Given the description of an element on the screen output the (x, y) to click on. 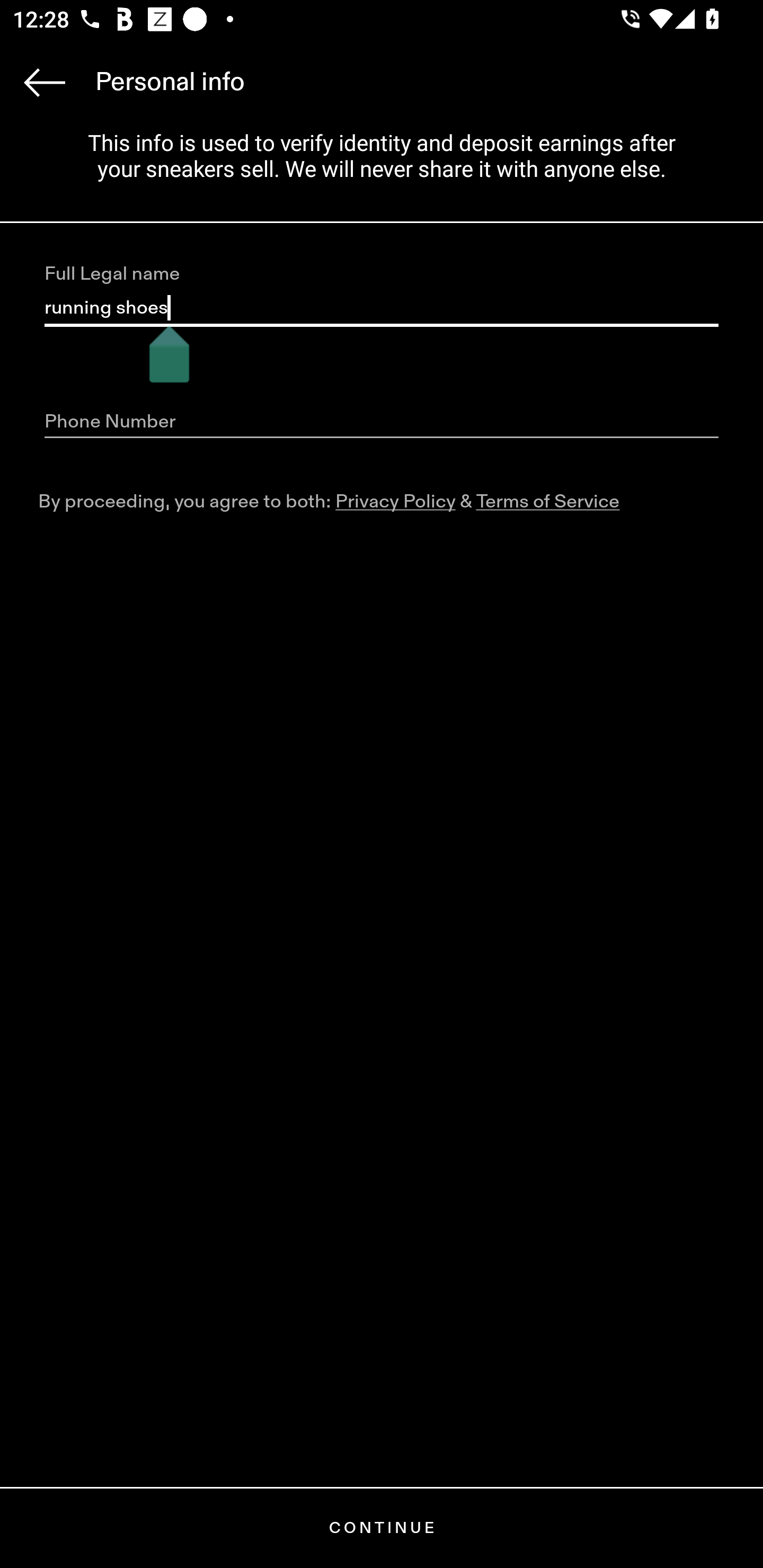
Navigate up (44, 82)
running shoes (381, 308)
Phone Number (381, 422)
CONTINUE (381, 1528)
